Given the description of an element on the screen output the (x, y) to click on. 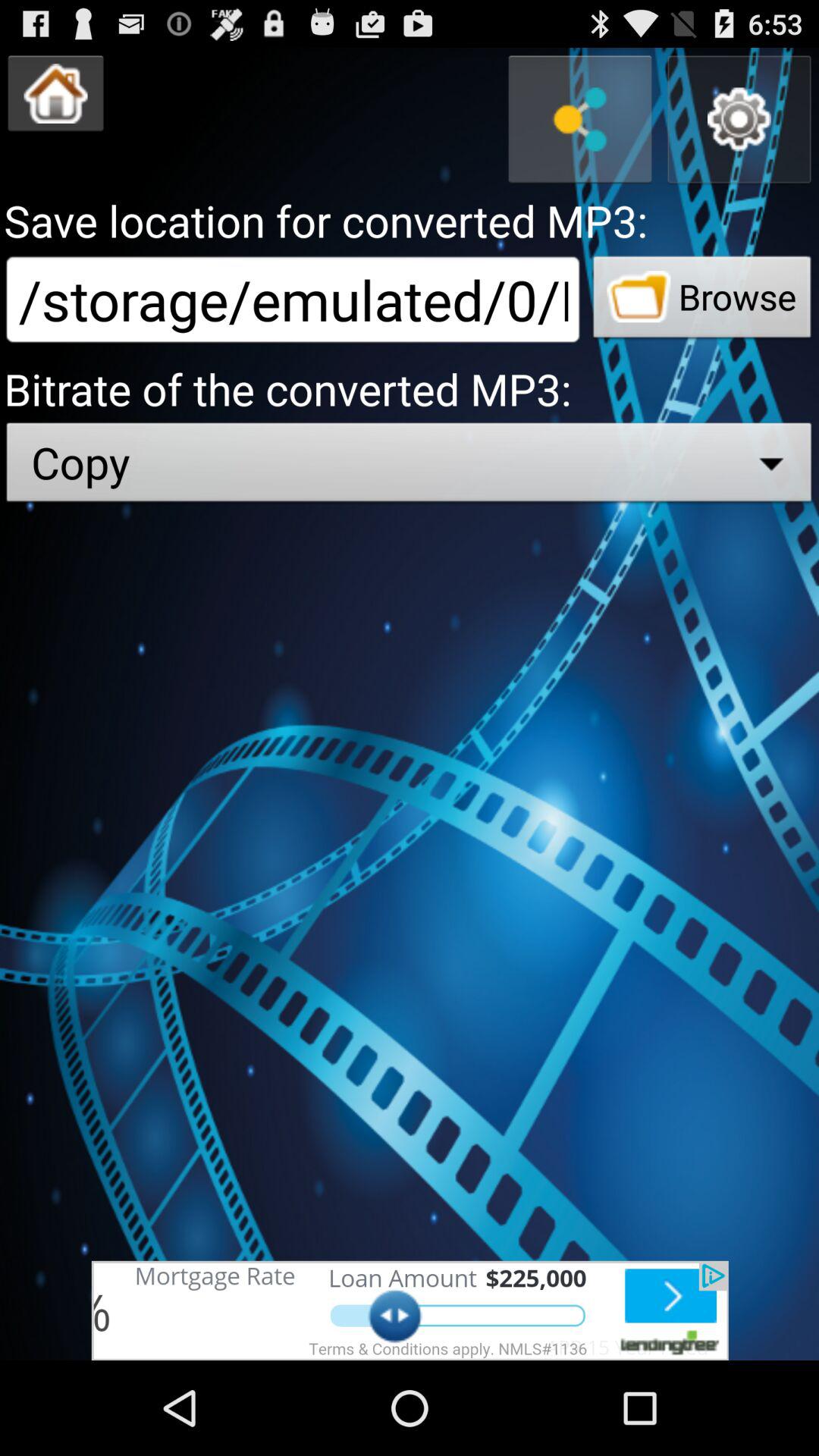
share audio (579, 119)
